Given the description of an element on the screen output the (x, y) to click on. 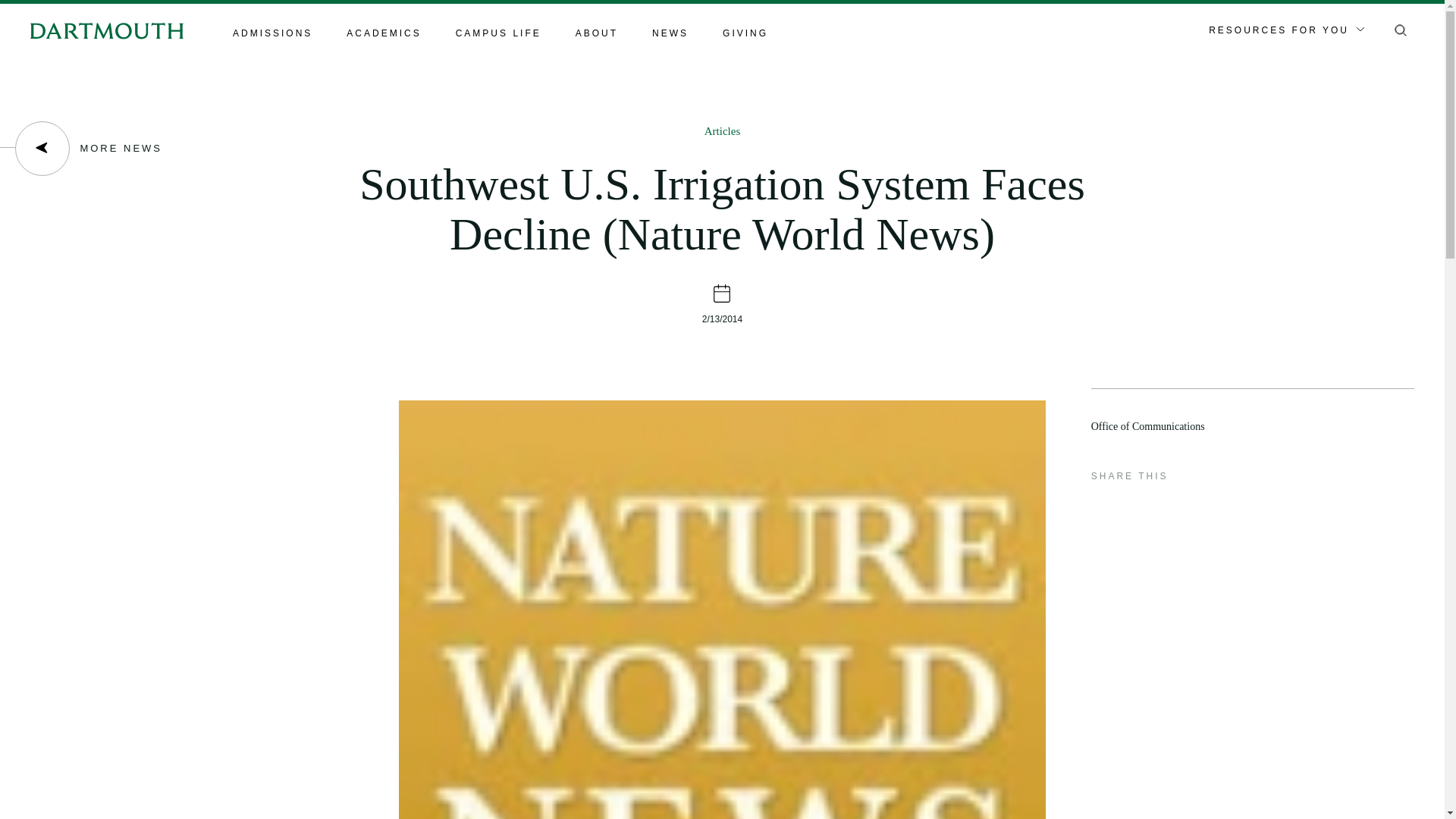
Academics (383, 33)
ADMISSIONS (272, 33)
Home (106, 29)
CAMPUS LIFE (498, 33)
Admissions (272, 33)
Home (106, 29)
ACADEMICS (383, 33)
ABOUT (596, 33)
